Given the description of an element on the screen output the (x, y) to click on. 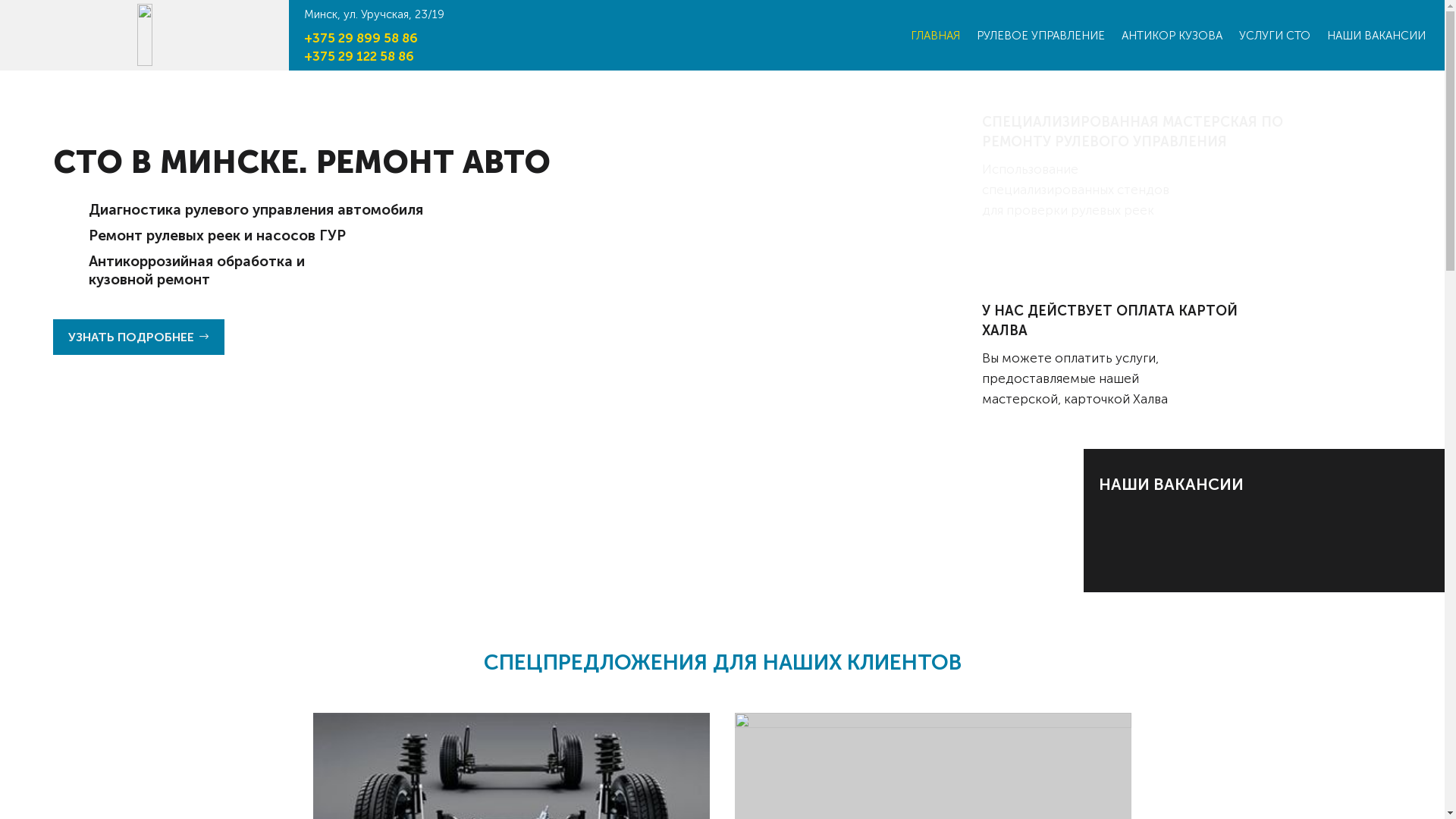
+375 29 899 58 86 Element type: text (360, 37)
+375 29 122 58 86 Element type: text (359, 55)
logo4 Element type: hover (144, 34)
